Given the description of an element on the screen output the (x, y) to click on. 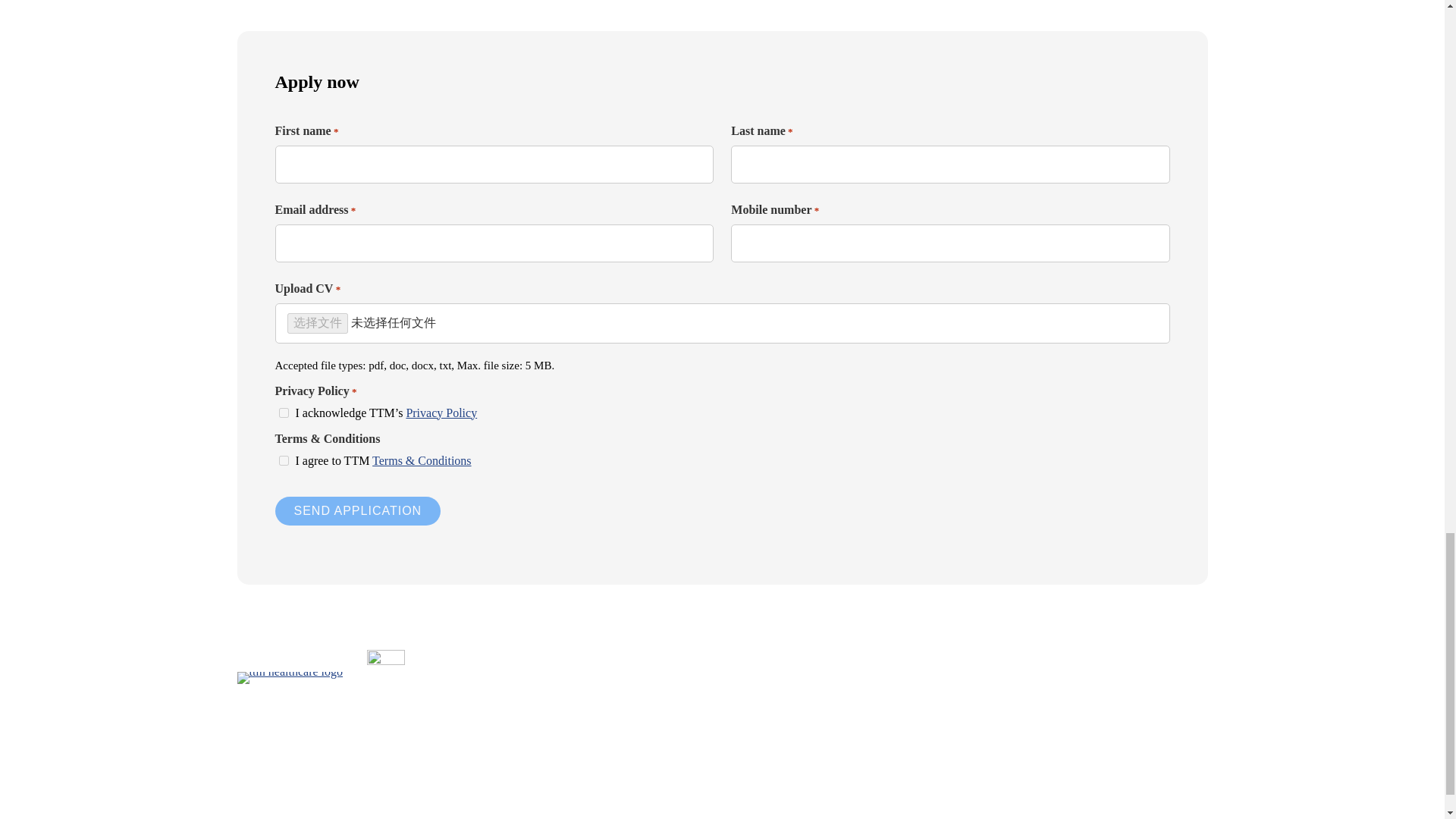
Social Value (862, 800)
1 (283, 412)
Cookie Policy (776, 800)
Modern Slavery Statement (975, 800)
Data Protection Statement (660, 800)
1 (283, 460)
Privacy Policy (441, 412)
Send application (358, 510)
Send application (358, 510)
